Given the description of an element on the screen output the (x, y) to click on. 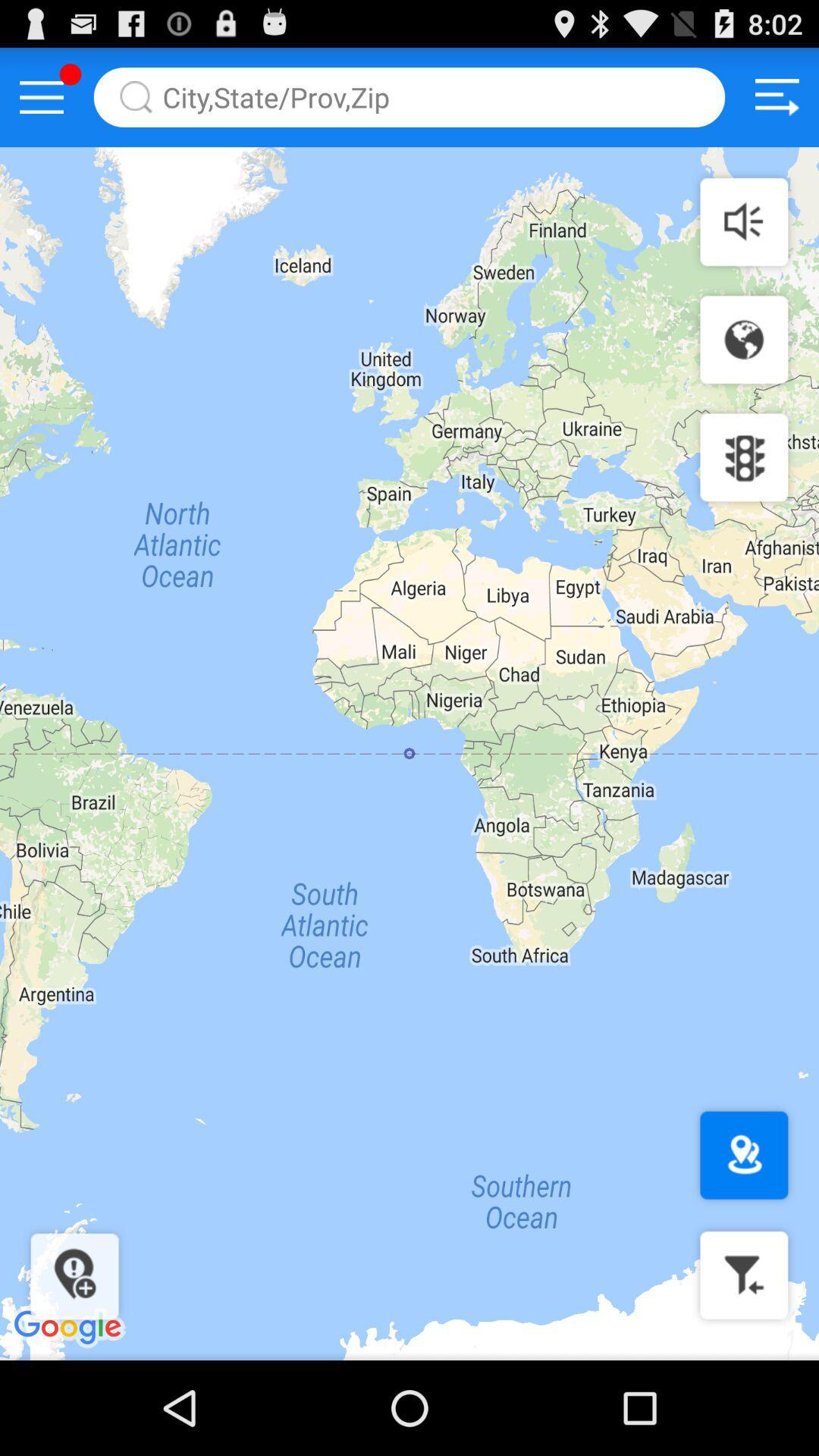
sound control (744, 221)
